Given the description of an element on the screen output the (x, y) to click on. 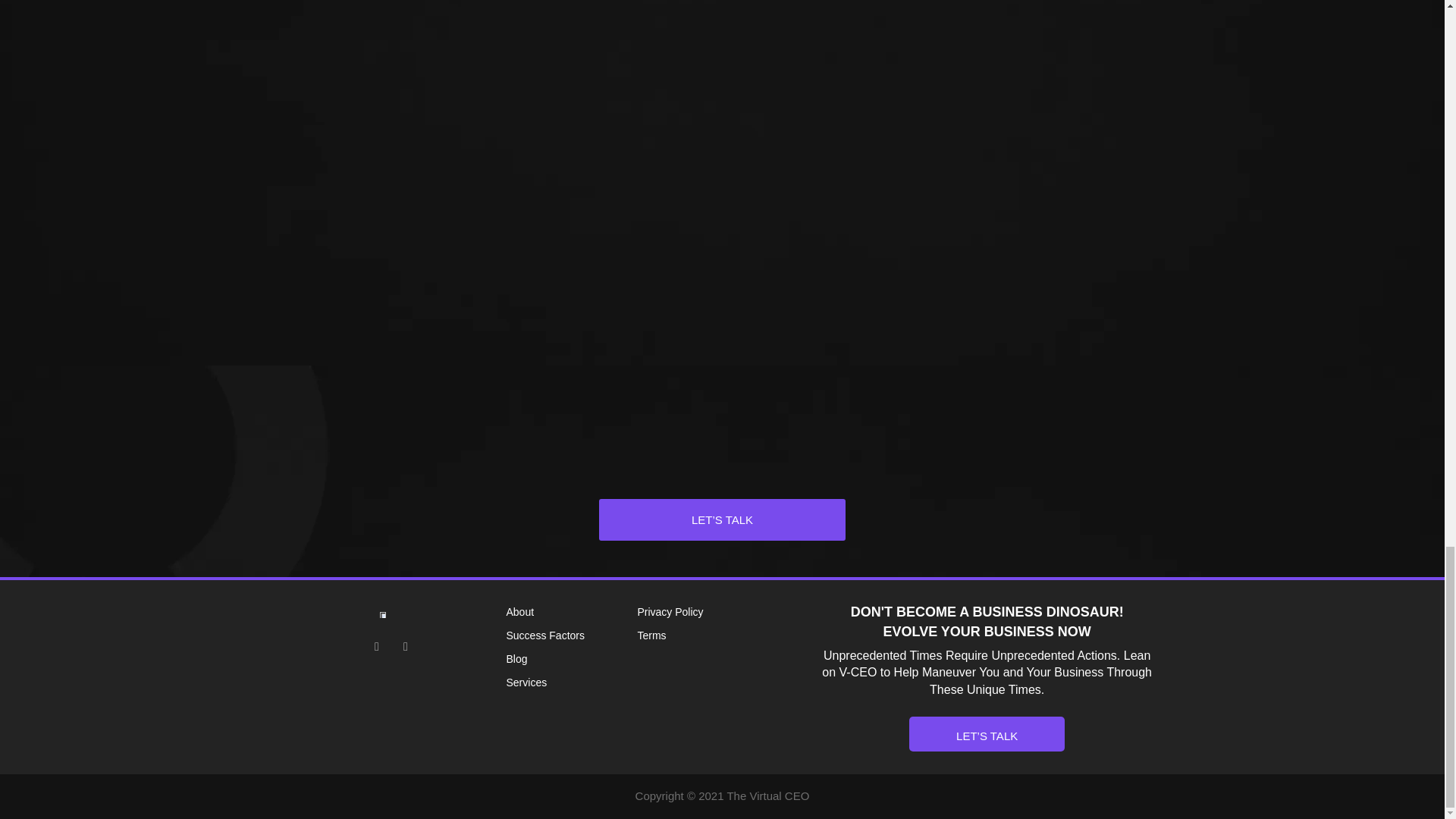
Linkedin (405, 646)
Blog (571, 659)
Privacy Policy (727, 612)
Services (571, 682)
Facebook-f (376, 646)
Success Factors (571, 636)
Terms (727, 636)
About (571, 612)
